Given the description of an element on the screen output the (x, y) to click on. 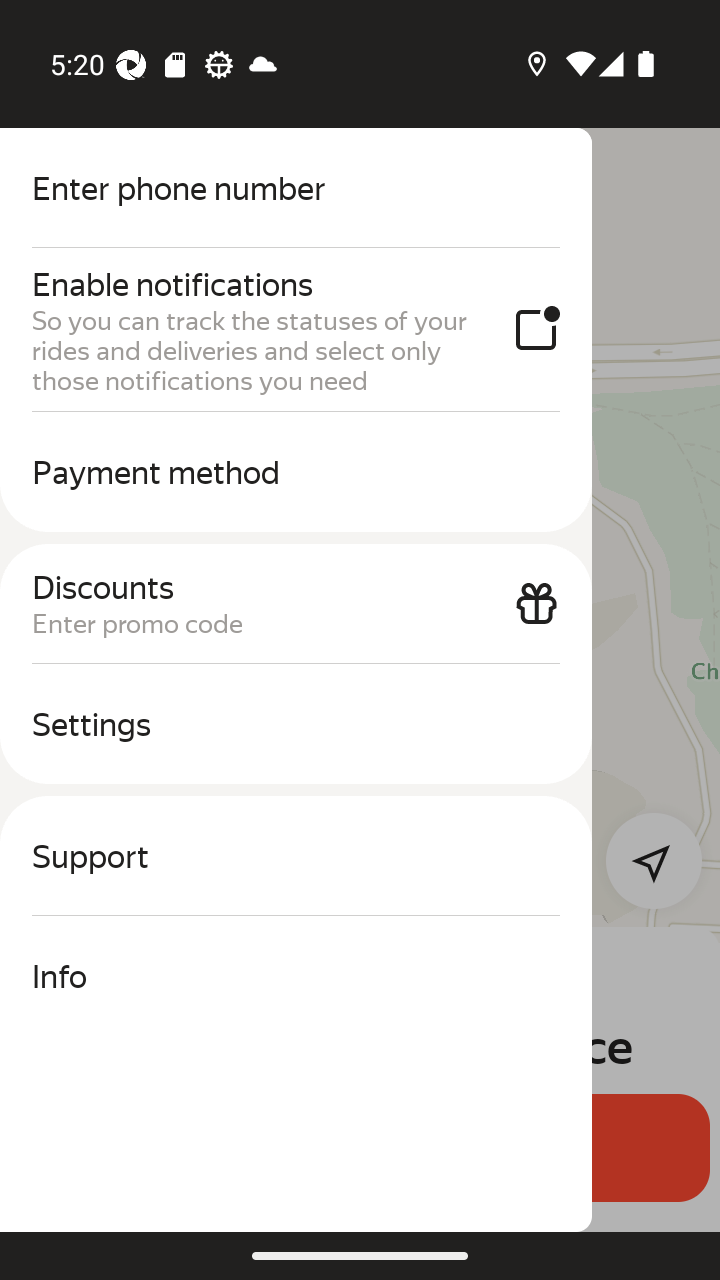
Enter phone number (295, 188)
Payment method (295, 472)
Settings (295, 723)
Support (295, 856)
Info (295, 975)
